Given the description of an element on the screen output the (x, y) to click on. 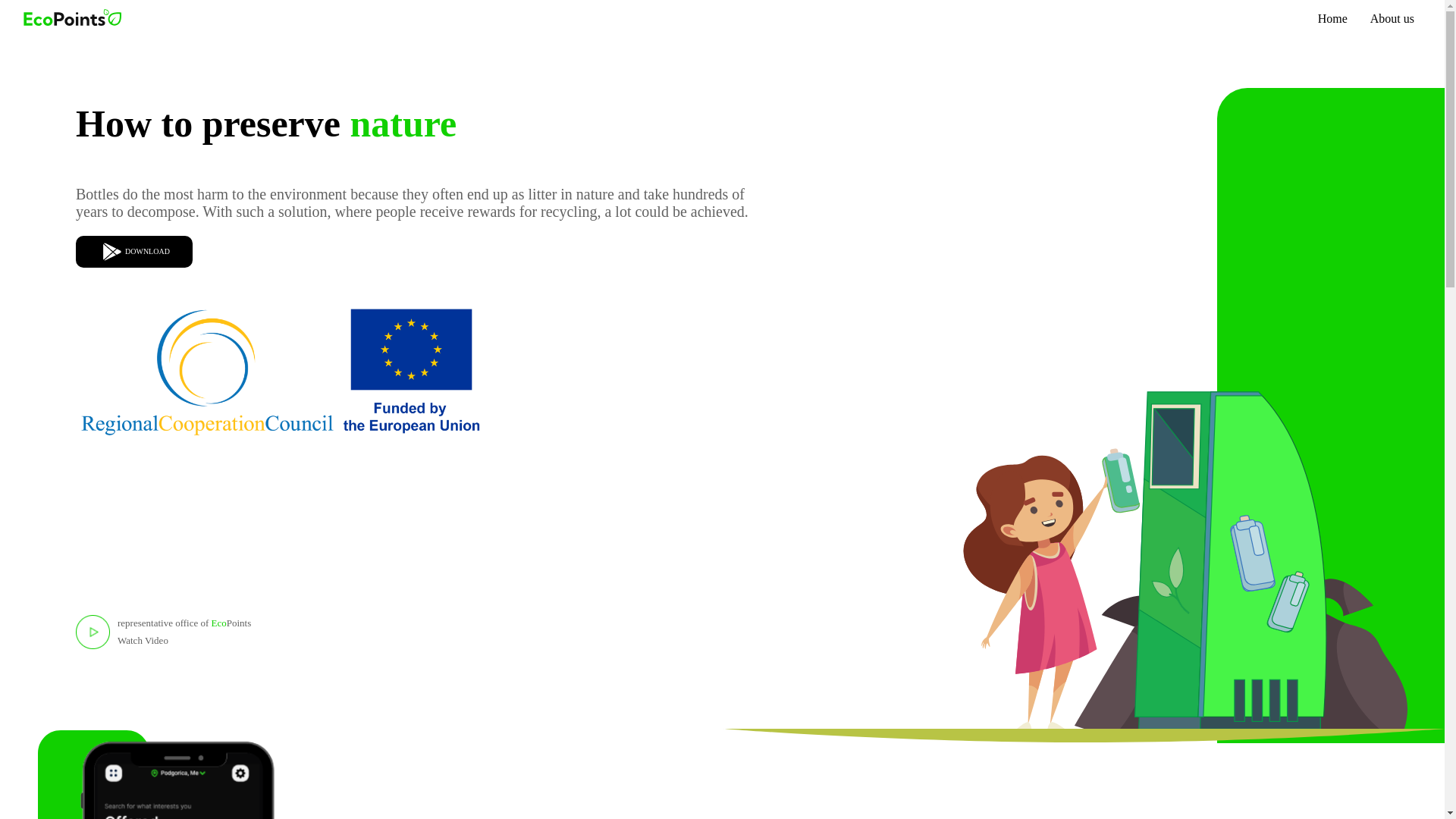
DOWNLOAD (133, 251)
